Given the description of an element on the screen output the (x, y) to click on. 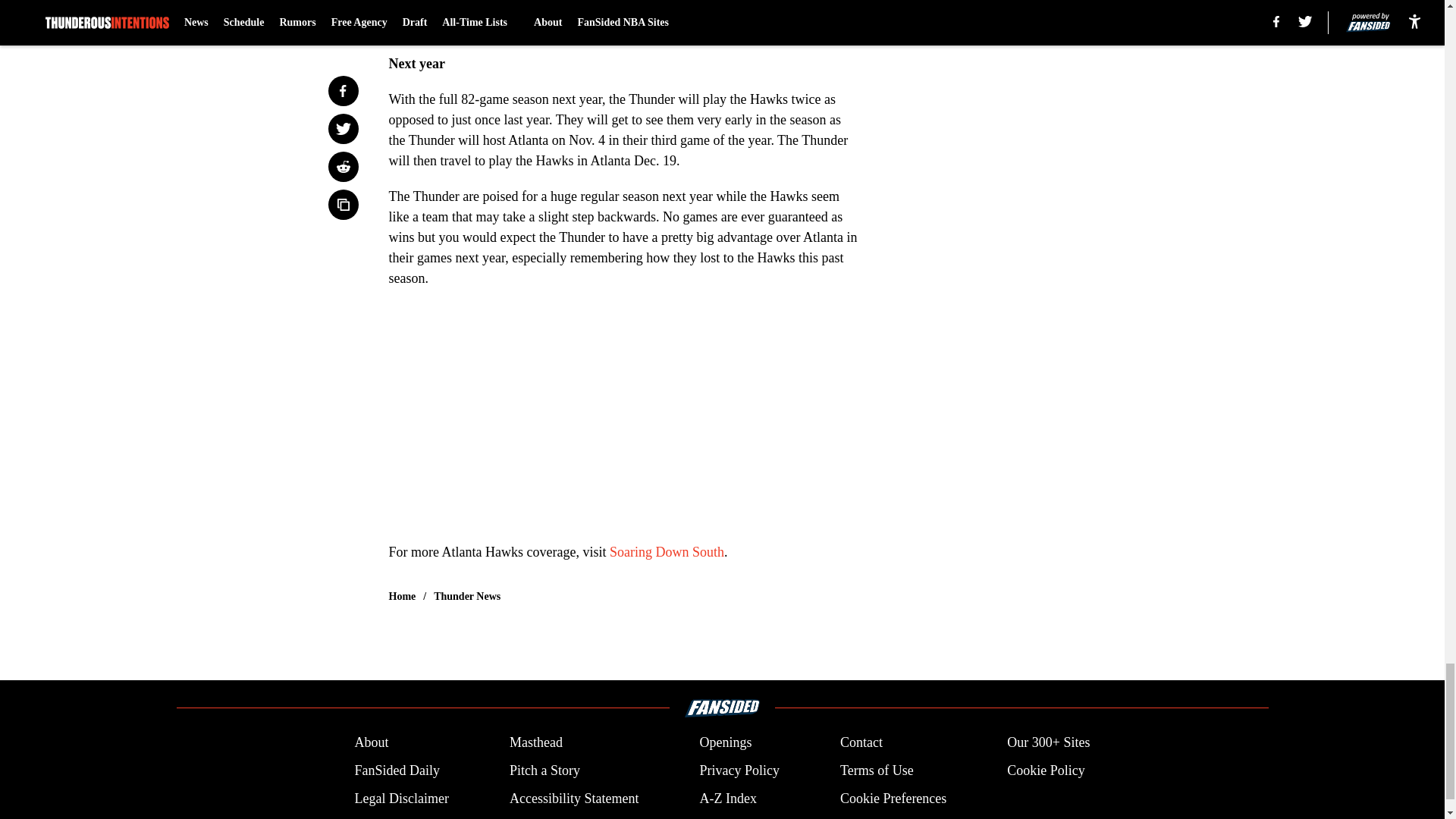
Contact (861, 742)
FanSided Daily (396, 770)
Openings (724, 742)
Privacy Policy (738, 770)
Home (401, 596)
Thunder News (466, 596)
Masthead (535, 742)
Pitch a Story (544, 770)
About (370, 742)
Terms of Use (877, 770)
Soaring Down South (666, 551)
